Given the description of an element on the screen output the (x, y) to click on. 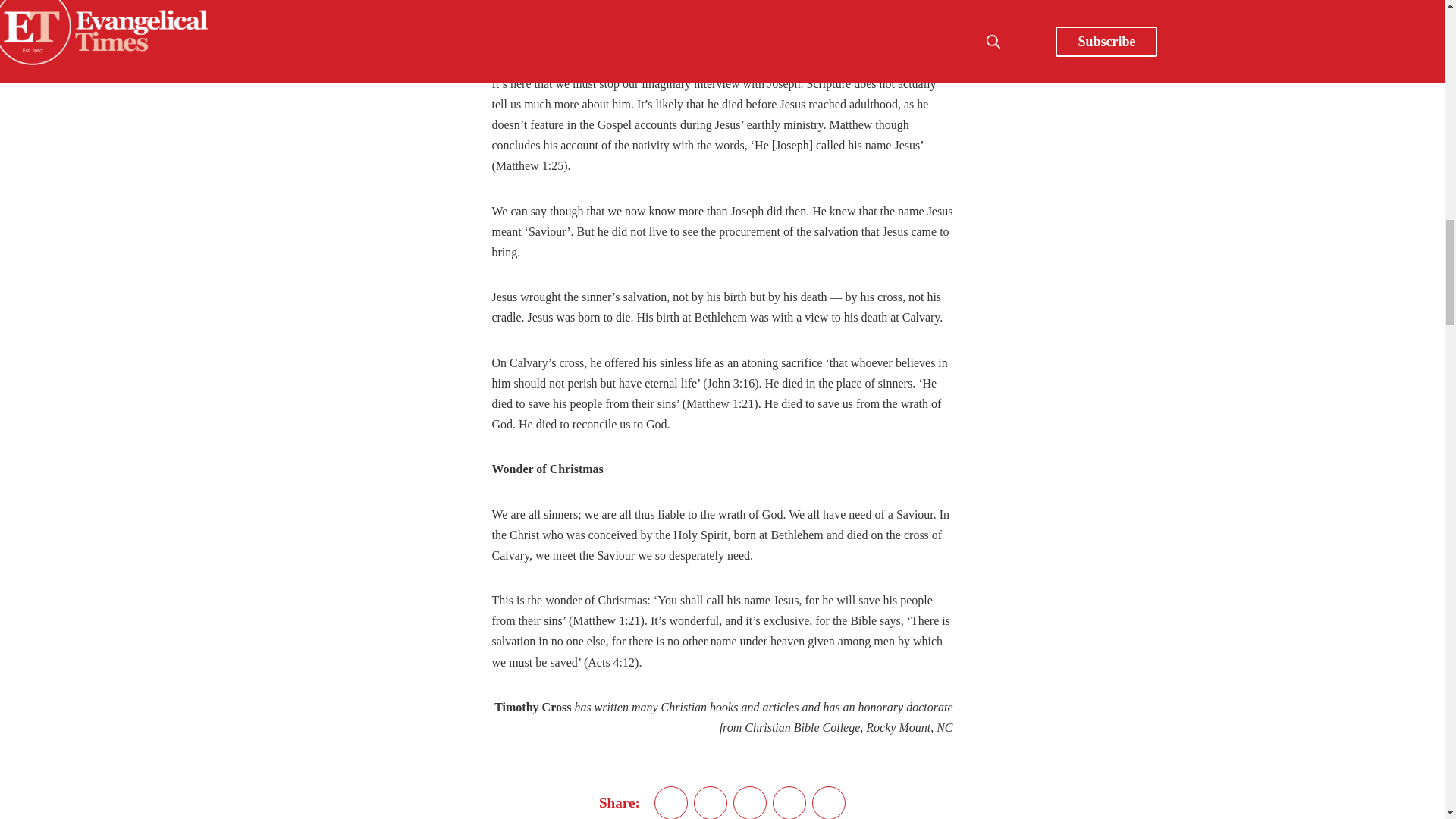
Share by email (789, 802)
Copy to clipboard (828, 802)
Share on Facebook (710, 802)
Share on Twitter (670, 802)
Share on Linkedin (750, 802)
